Given the description of an element on the screen output the (x, y) to click on. 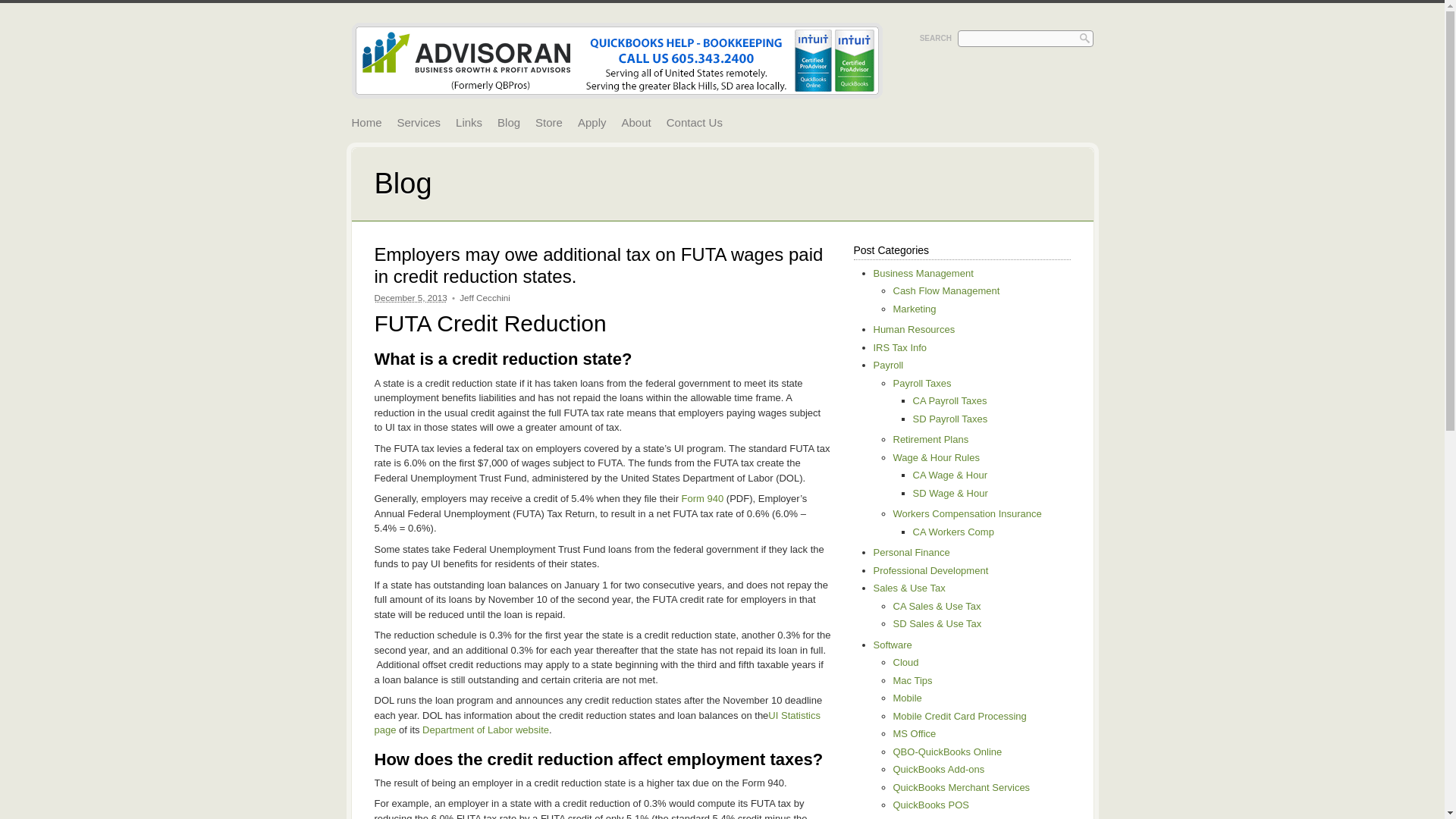
Cash Flow Management (946, 290)
Services (418, 122)
Workers Compensation Insurance (967, 513)
Blog (508, 122)
Retirement Plans (931, 439)
Professional Development (930, 570)
Store (548, 122)
SD Payroll Taxes (950, 419)
Links (468, 122)
Form 940 (702, 498)
Department of Labor website (485, 729)
Personal Finance (911, 552)
Payroll (888, 365)
Payroll Taxes (922, 383)
Home (366, 122)
